Given the description of an element on the screen output the (x, y) to click on. 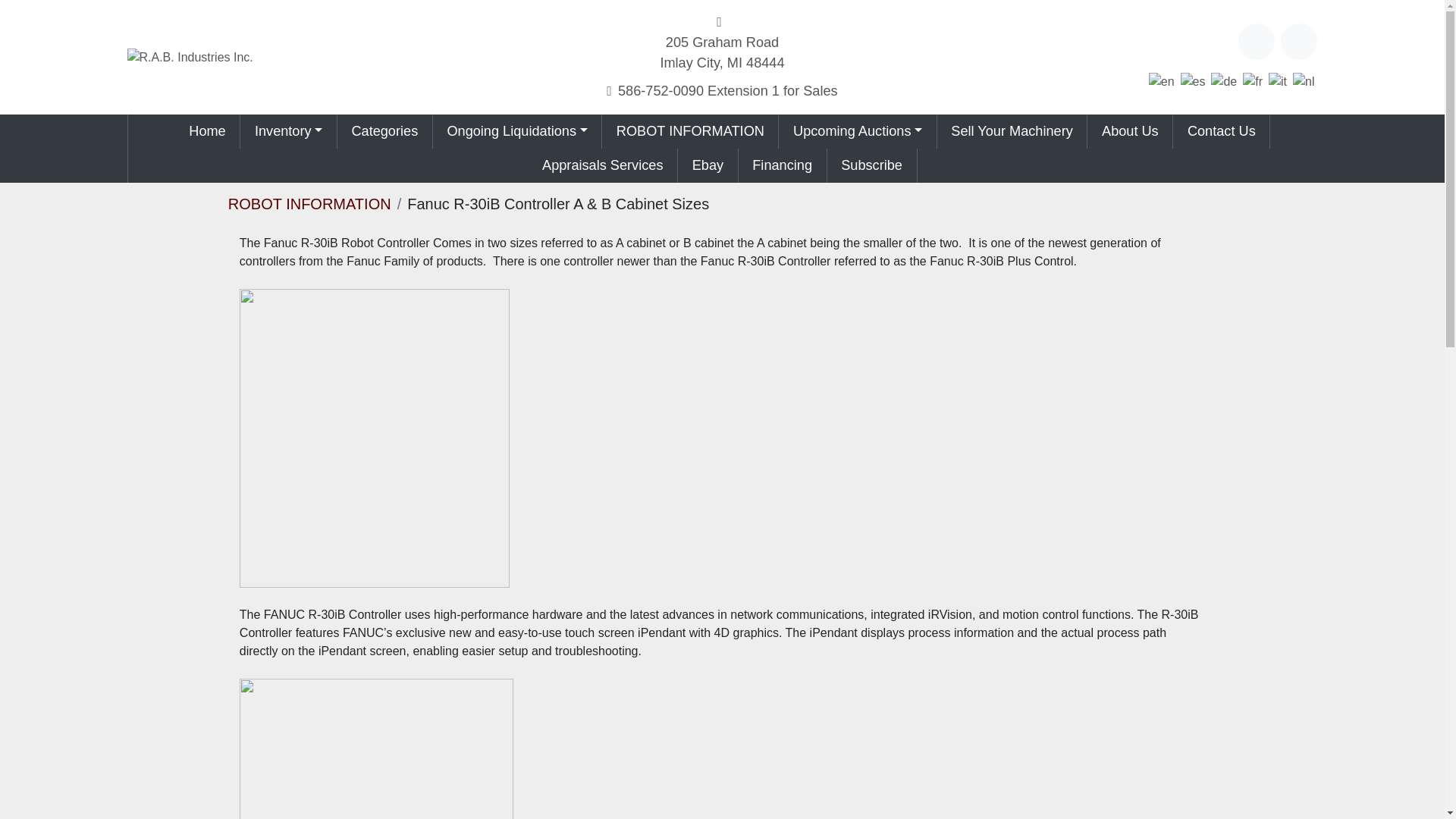
Inventory (721, 53)
586-752-0090 Extension 1 for Sales (282, 131)
Home (727, 91)
